Given the description of an element on the screen output the (x, y) to click on. 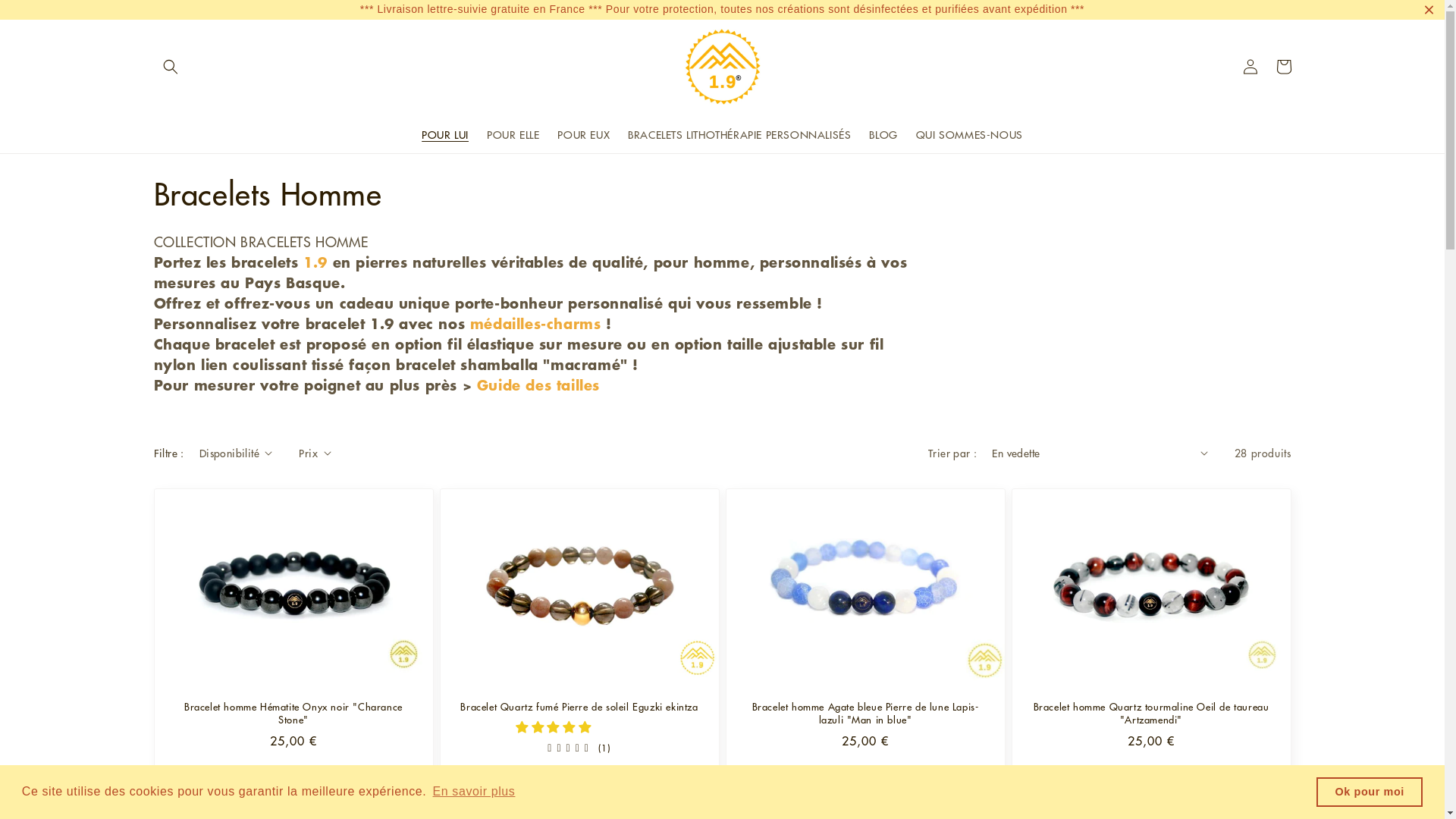
POUR ELLE Element type: text (512, 134)
Ok pour moi Element type: text (1369, 791)
Guide des tailles Element type: text (537, 384)
Connexion Element type: text (1249, 66)
POUR EUX Element type: text (583, 134)
QUI SOMMES-NOUS Element type: text (969, 134)
POUR LUI Element type: text (444, 134)
En savoir plus Element type: text (473, 791)
Panier Element type: text (1282, 66)
1.9 Element type: text (315, 261)
BLOG Element type: text (882, 134)
